Given the description of an element on the screen output the (x, y) to click on. 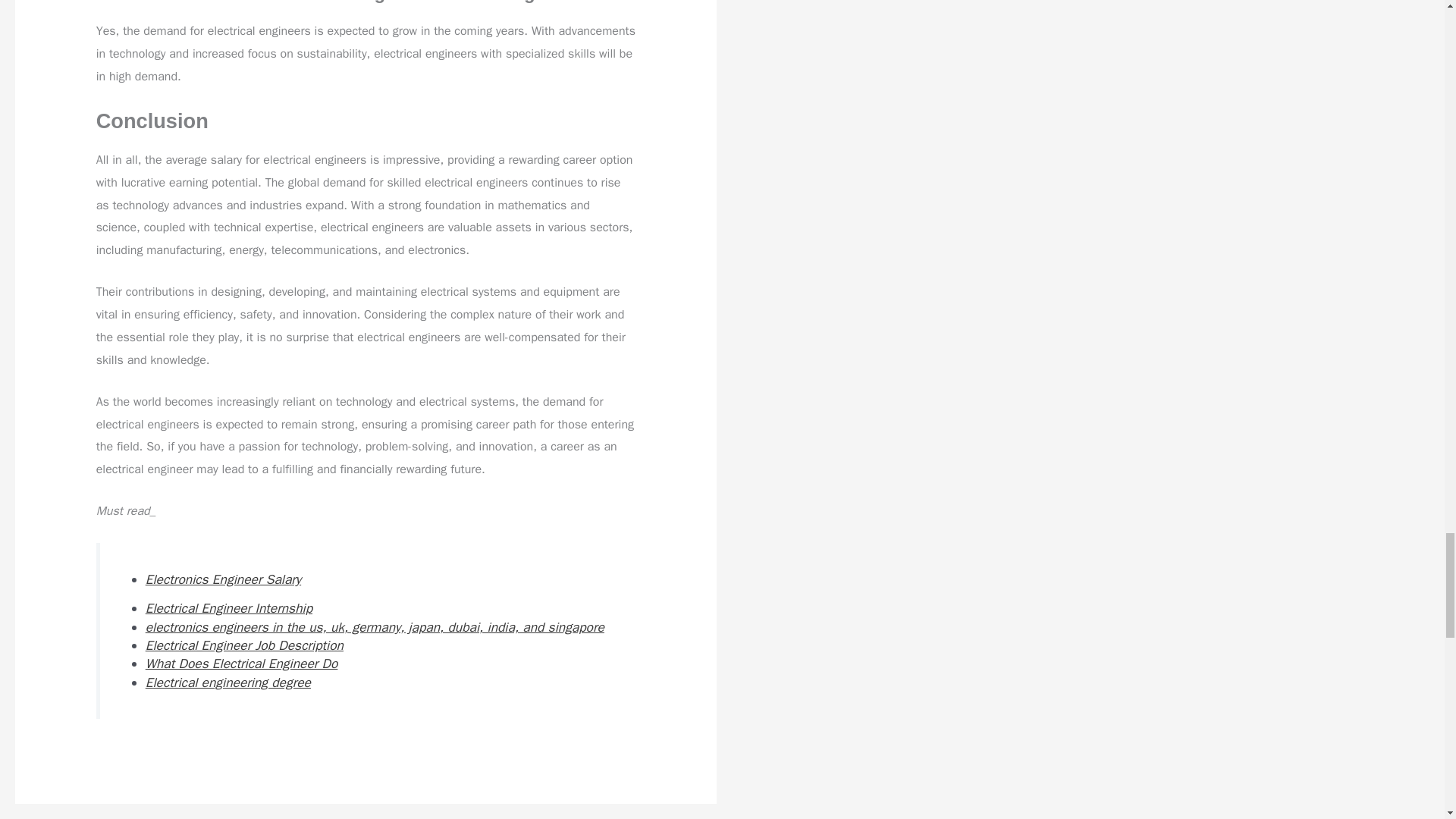
Electrical Engineer Internship (229, 607)
Electrical Engineer Job Description (244, 645)
Electronics Engineer Salary (223, 579)
